Given the description of an element on the screen output the (x, y) to click on. 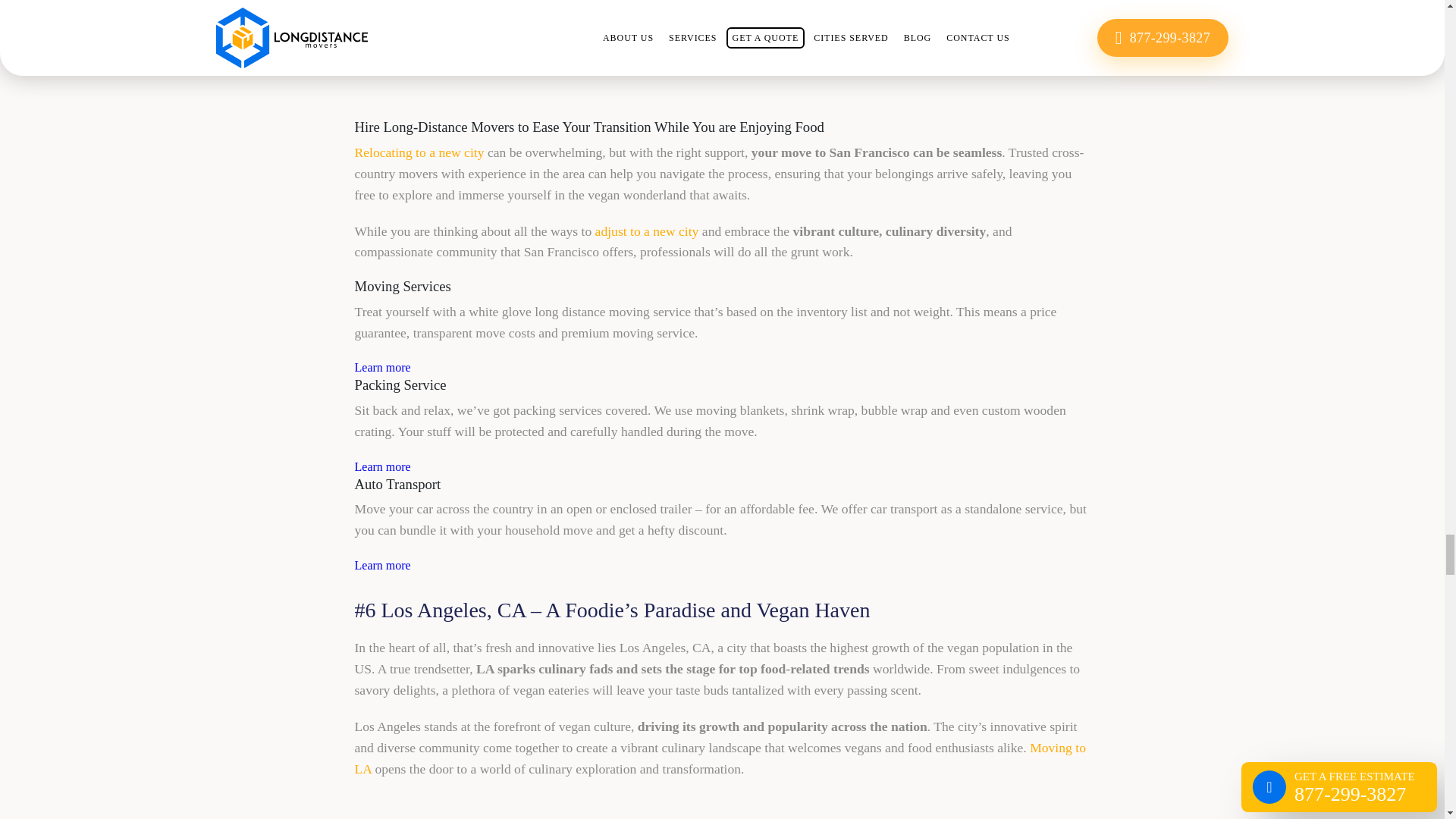
YouTube video player (721, 48)
